Given the description of an element on the screen output the (x, y) to click on. 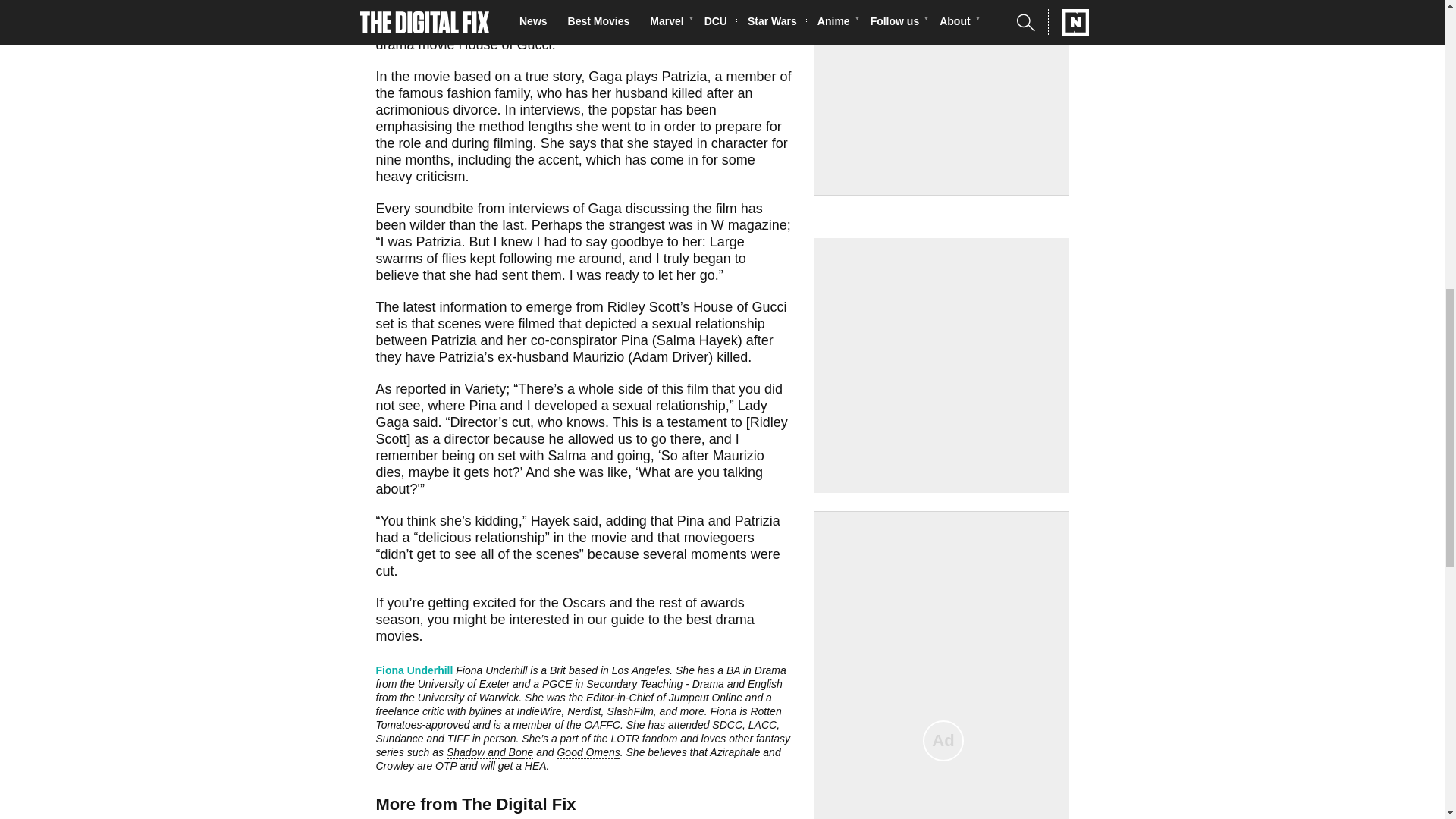
best drama movies. (564, 627)
drama movie (414, 44)
in Variety (477, 388)
House of Gucci (504, 44)
movie based on a true story (496, 76)
in W magazine (742, 224)
